Given the description of an element on the screen output the (x, y) to click on. 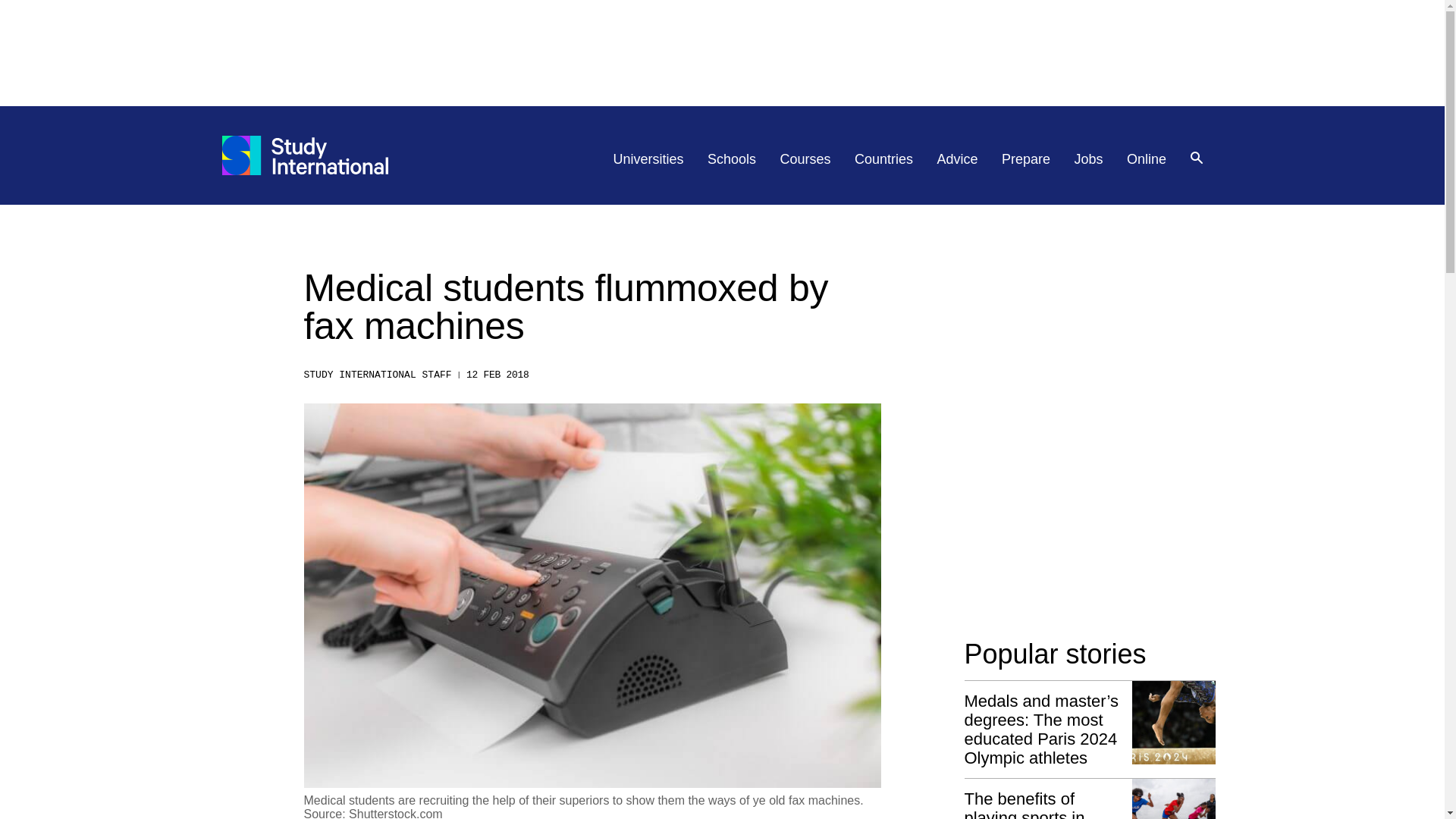
Advice (957, 159)
Courses (805, 159)
Schools (731, 159)
Jobs (1088, 159)
Online (1146, 159)
STUDY INTERNATIONAL STAFF (376, 374)
Countries (883, 159)
Prepare (1025, 159)
Universities (648, 159)
